Given the description of an element on the screen output the (x, y) to click on. 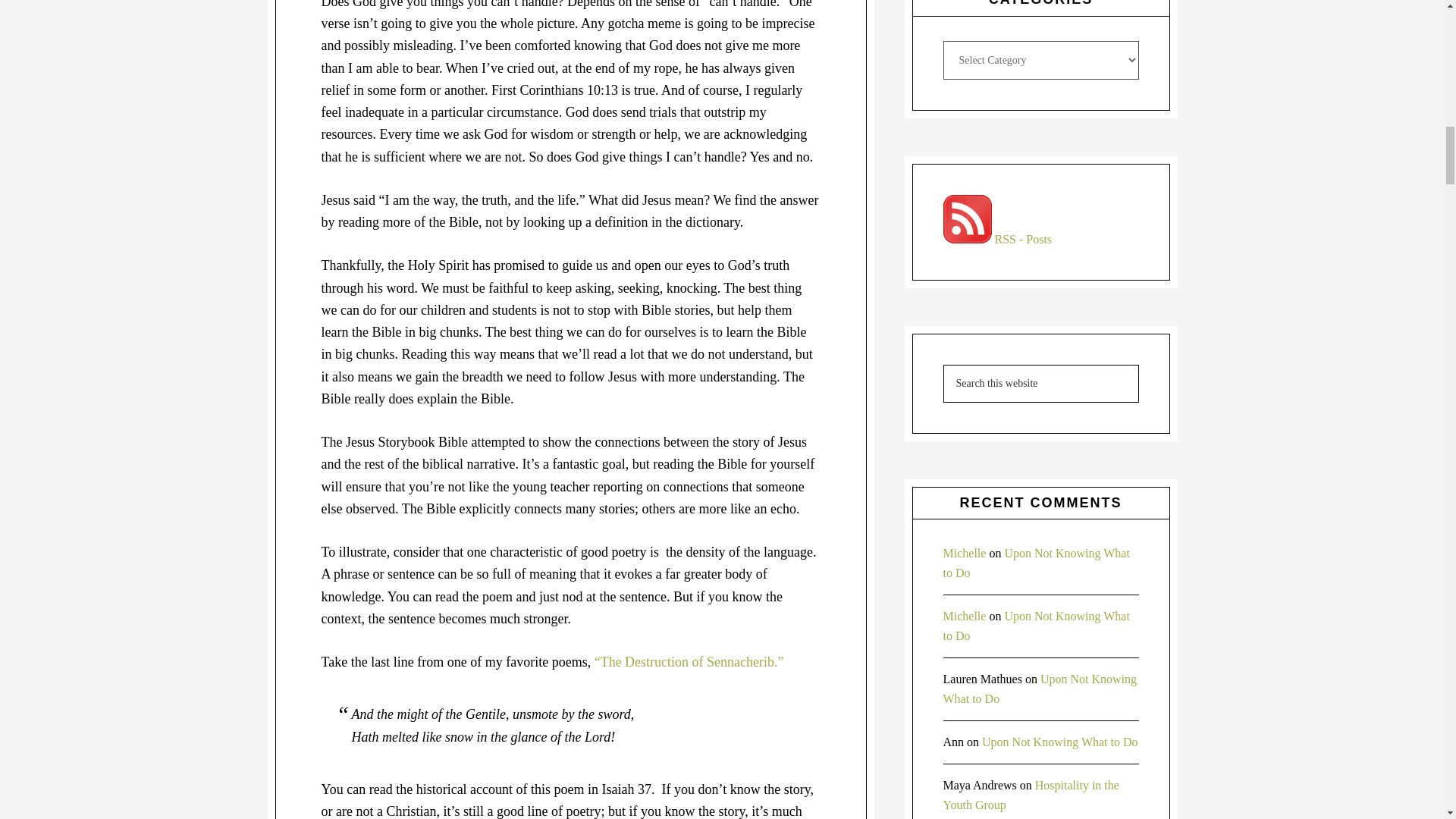
Subscribe to posts (997, 238)
